Given the description of an element on the screen output the (x, y) to click on. 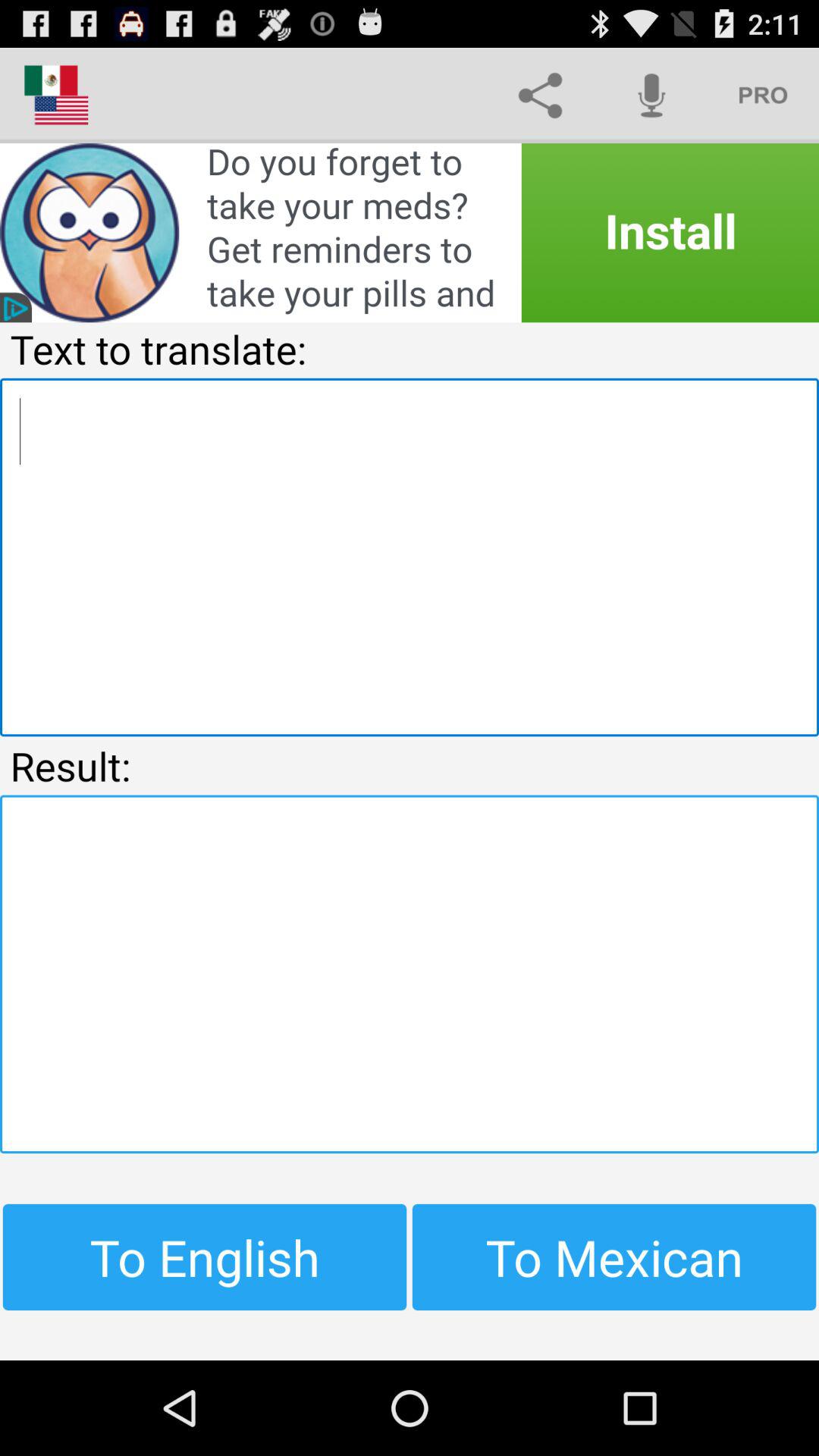
launch the item below result: icon (409, 974)
